Given the description of an element on the screen output the (x, y) to click on. 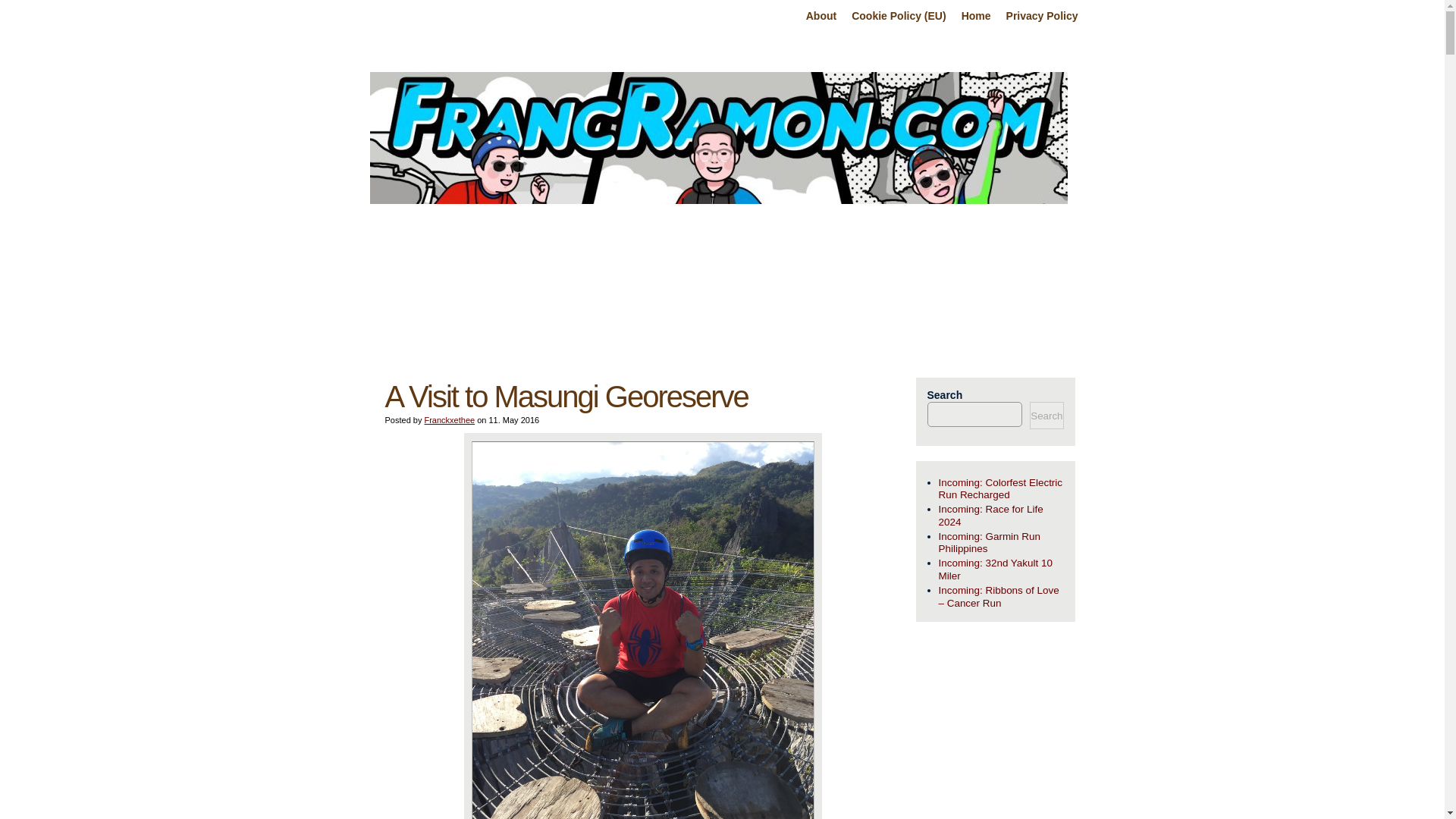
Incoming: Race for Life 2024 (1001, 515)
Privacy Policy (1042, 16)
Home (975, 16)
Incoming: Garmin Run Philippines (1001, 543)
Posts by Franckxethee (448, 420)
About (820, 16)
Incoming: Colorfest Electric Run Recharged (1001, 489)
Incoming: 32nd Yakult 10 Miler (1001, 569)
Search (1045, 415)
Franckxethee (448, 420)
